Given the description of an element on the screen output the (x, y) to click on. 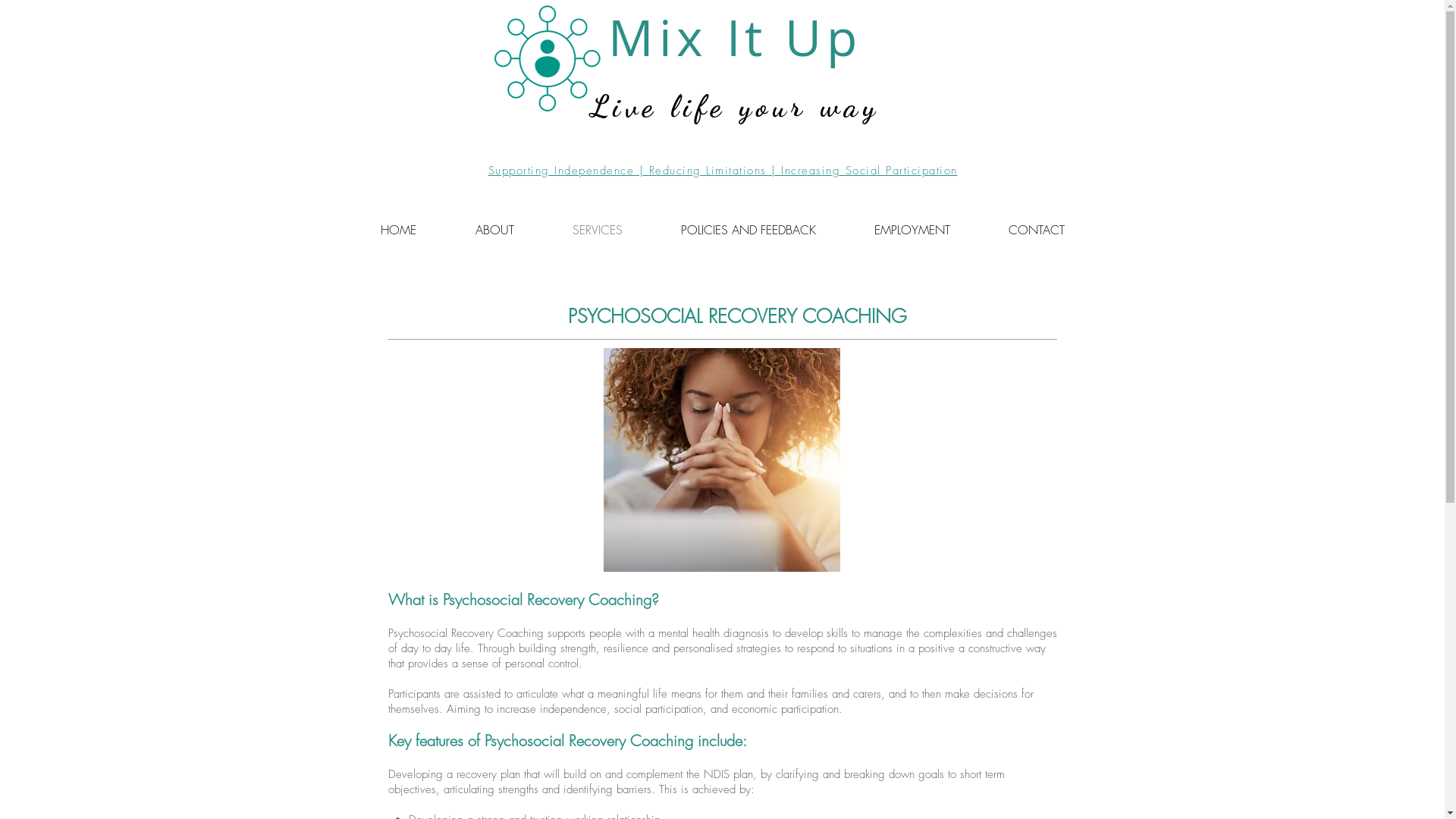
SERVICES Element type: text (596, 229)
Mix It Up Element type: text (734, 36)
ABOUT Element type: text (494, 229)
POLICIES AND FEEDBACK Element type: text (748, 229)
Live life your way Element type: text (735, 98)
HOME Element type: text (397, 229)
CONTACT Element type: text (1036, 229)
EMPLOYMENT Element type: text (911, 229)
